Given the description of an element on the screen output the (x, y) to click on. 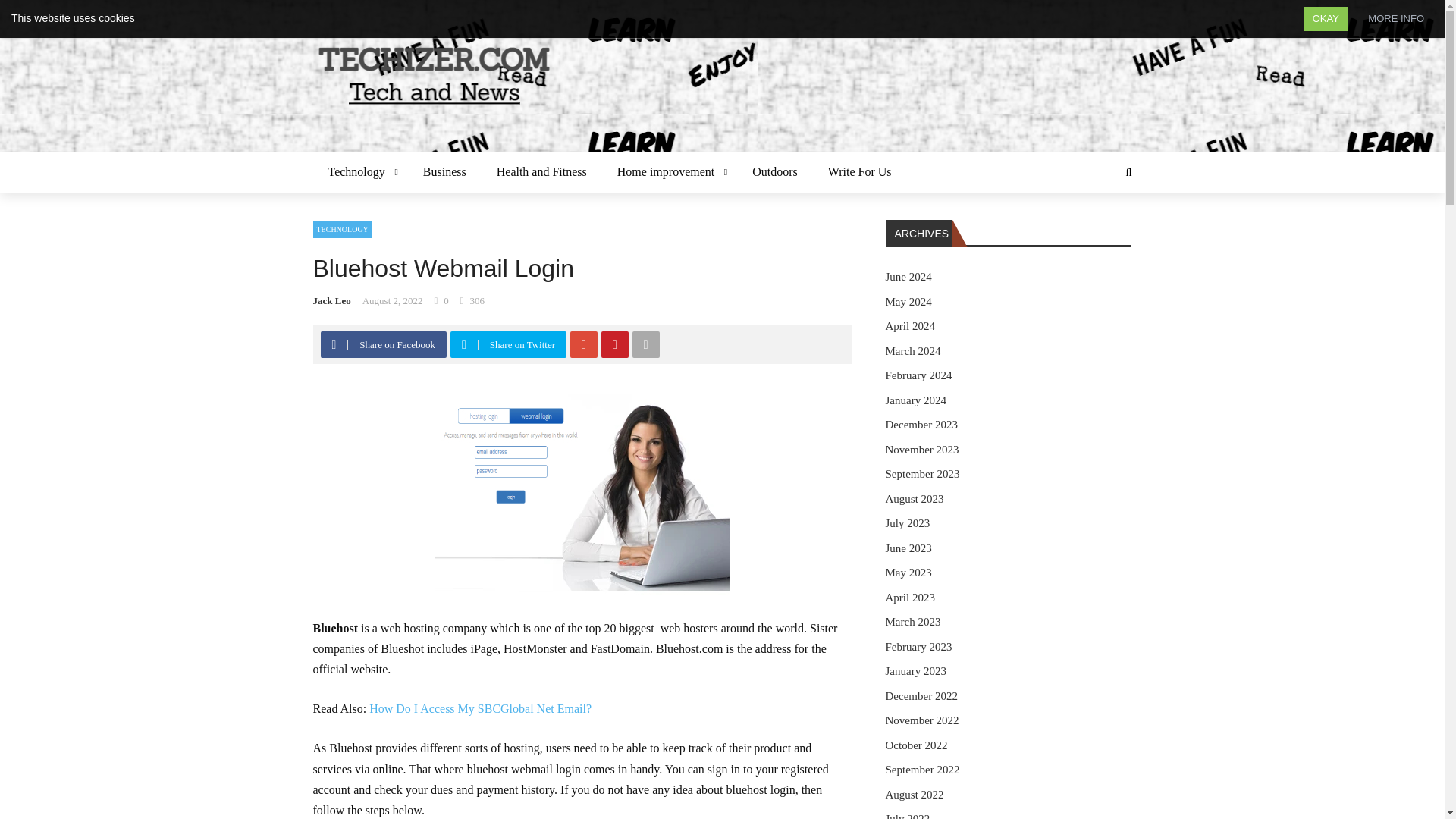
Facebook (333, 344)
Home improvement (669, 171)
Google Plus (583, 344)
Twitter (463, 344)
Health and Fitness (541, 171)
Pinterest (614, 344)
Technology (360, 171)
Business (444, 171)
